Given the description of an element on the screen output the (x, y) to click on. 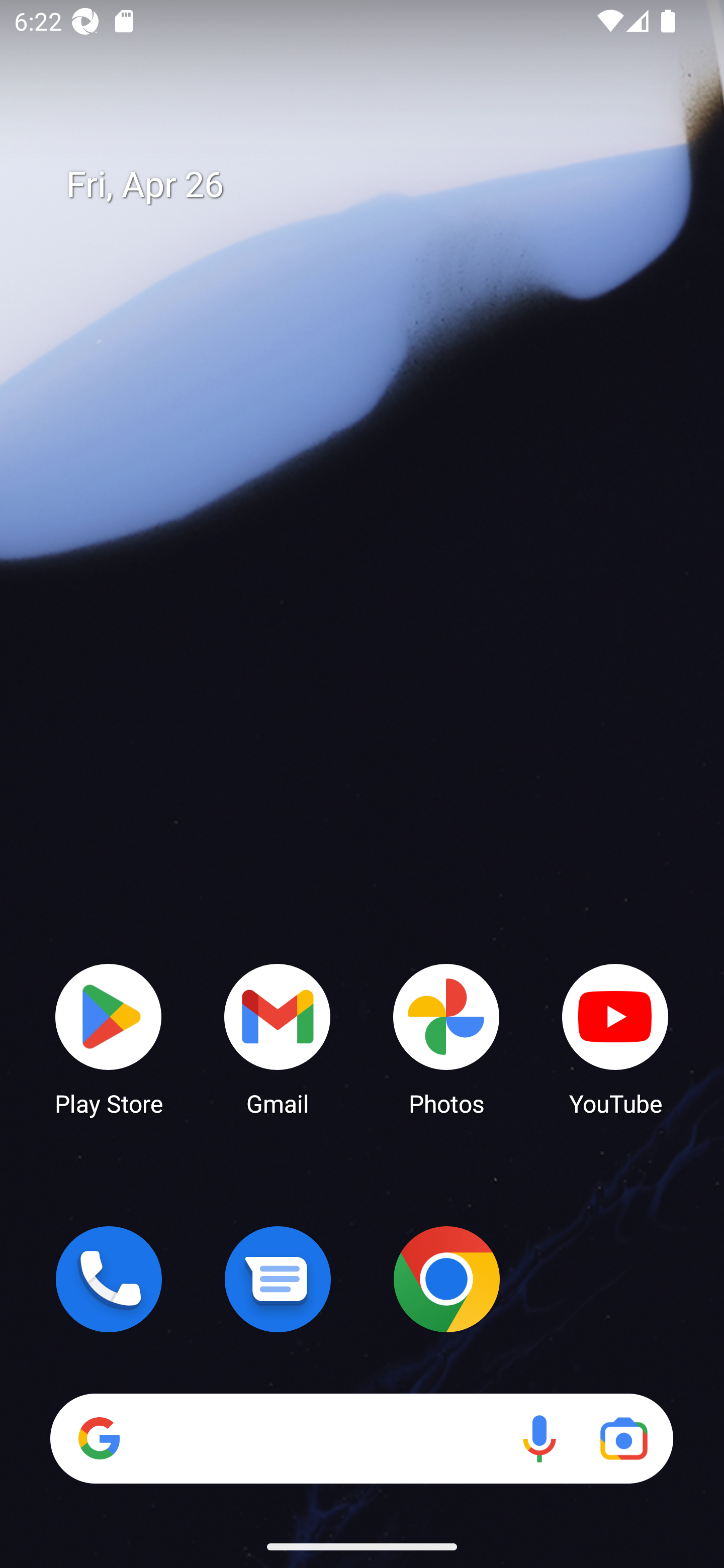
Fri, Apr 26 (375, 184)
Play Store (108, 1038)
Gmail (277, 1038)
Photos (445, 1038)
YouTube (615, 1038)
Phone (108, 1279)
Messages (277, 1279)
Chrome (446, 1279)
Search Voice search Google Lens (361, 1438)
Voice search (539, 1438)
Google Lens (623, 1438)
